Given the description of an element on the screen output the (x, y) to click on. 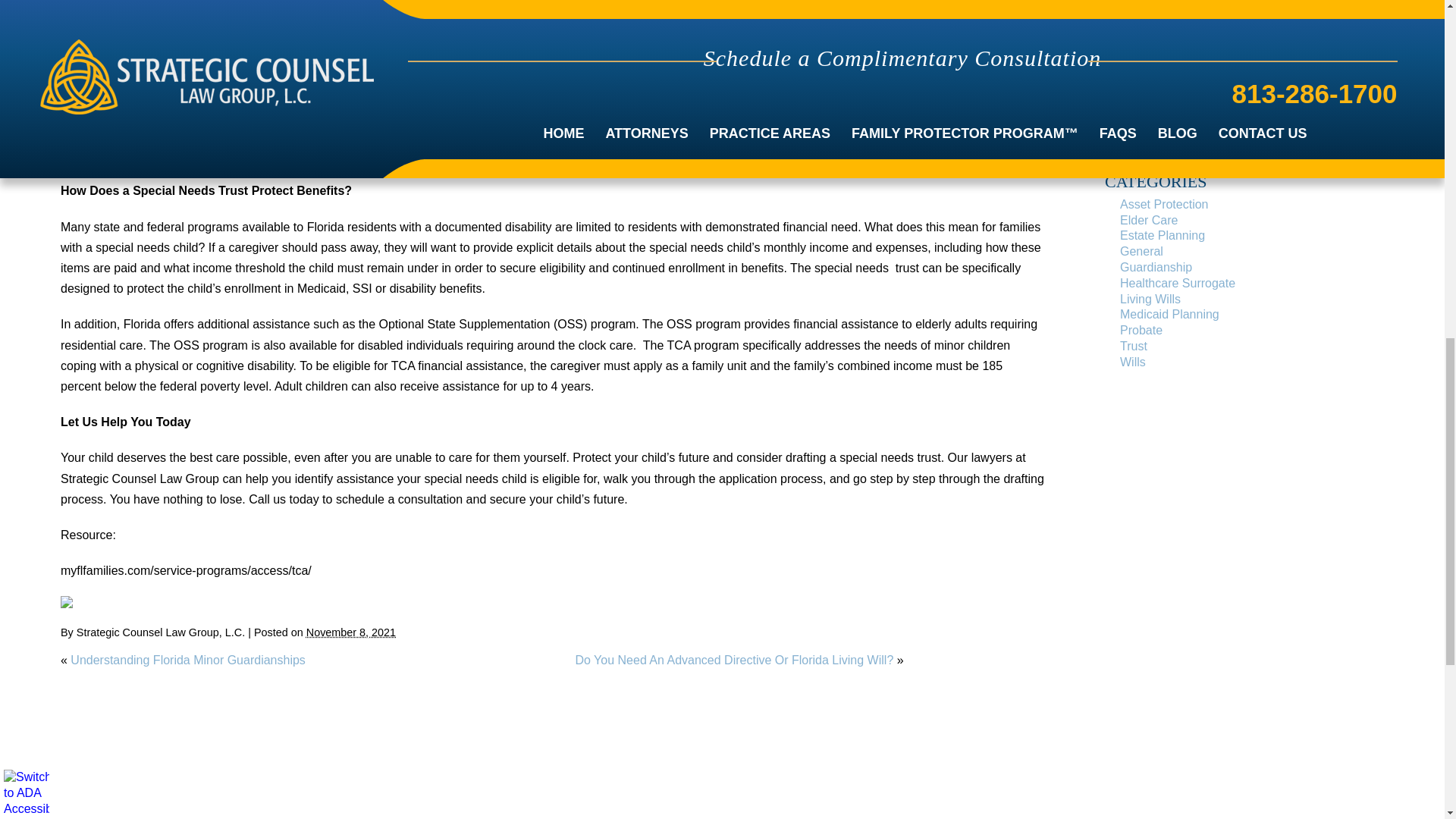
EstPlan18 (136, 21)
2021-11-08T03:00:50-0800 (350, 632)
Facebook (66, 602)
LinkedIn (87, 602)
Twitter (76, 602)
